Given the description of an element on the screen output the (x, y) to click on. 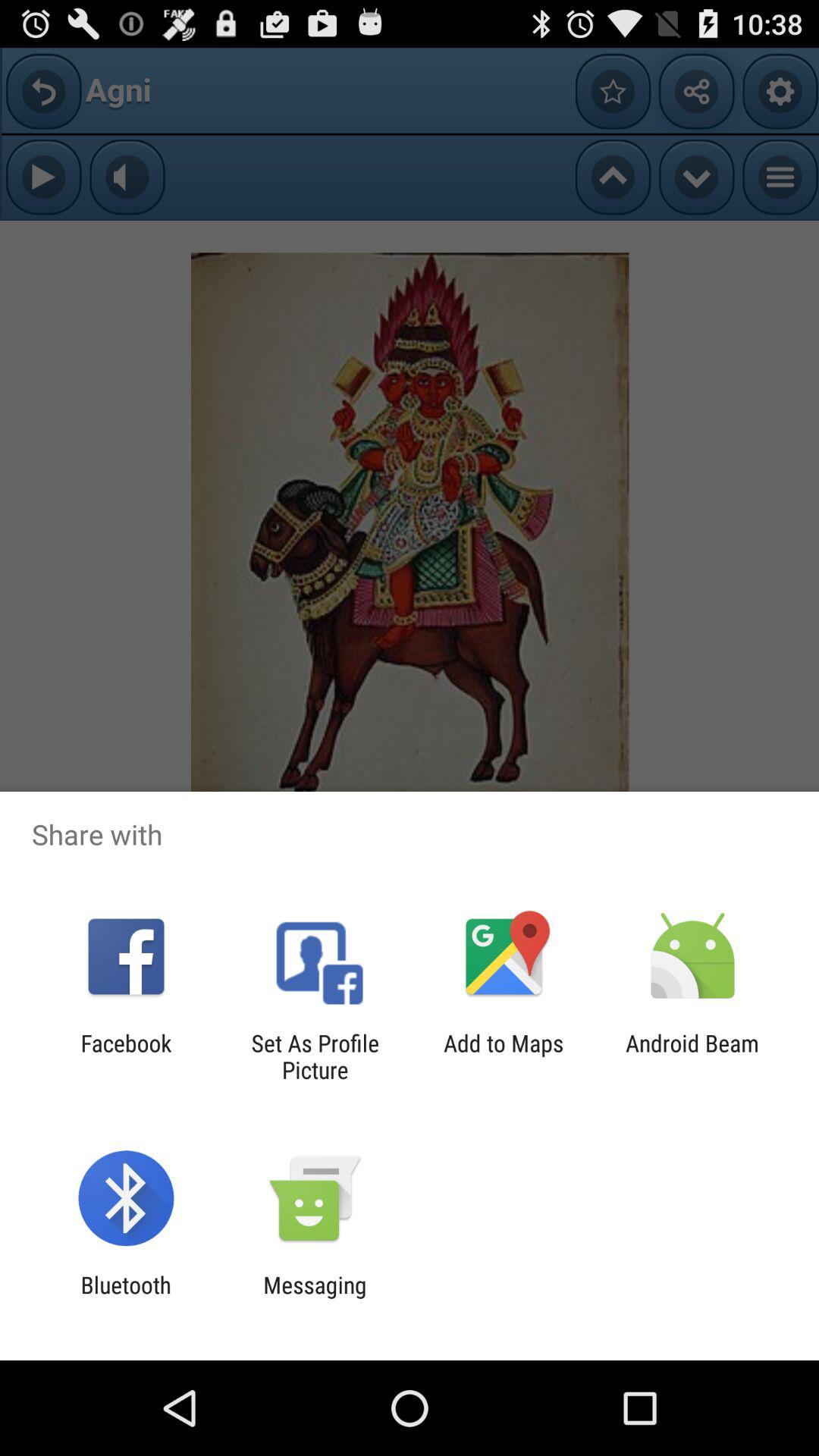
jump until messaging app (314, 1298)
